Given the description of an element on the screen output the (x, y) to click on. 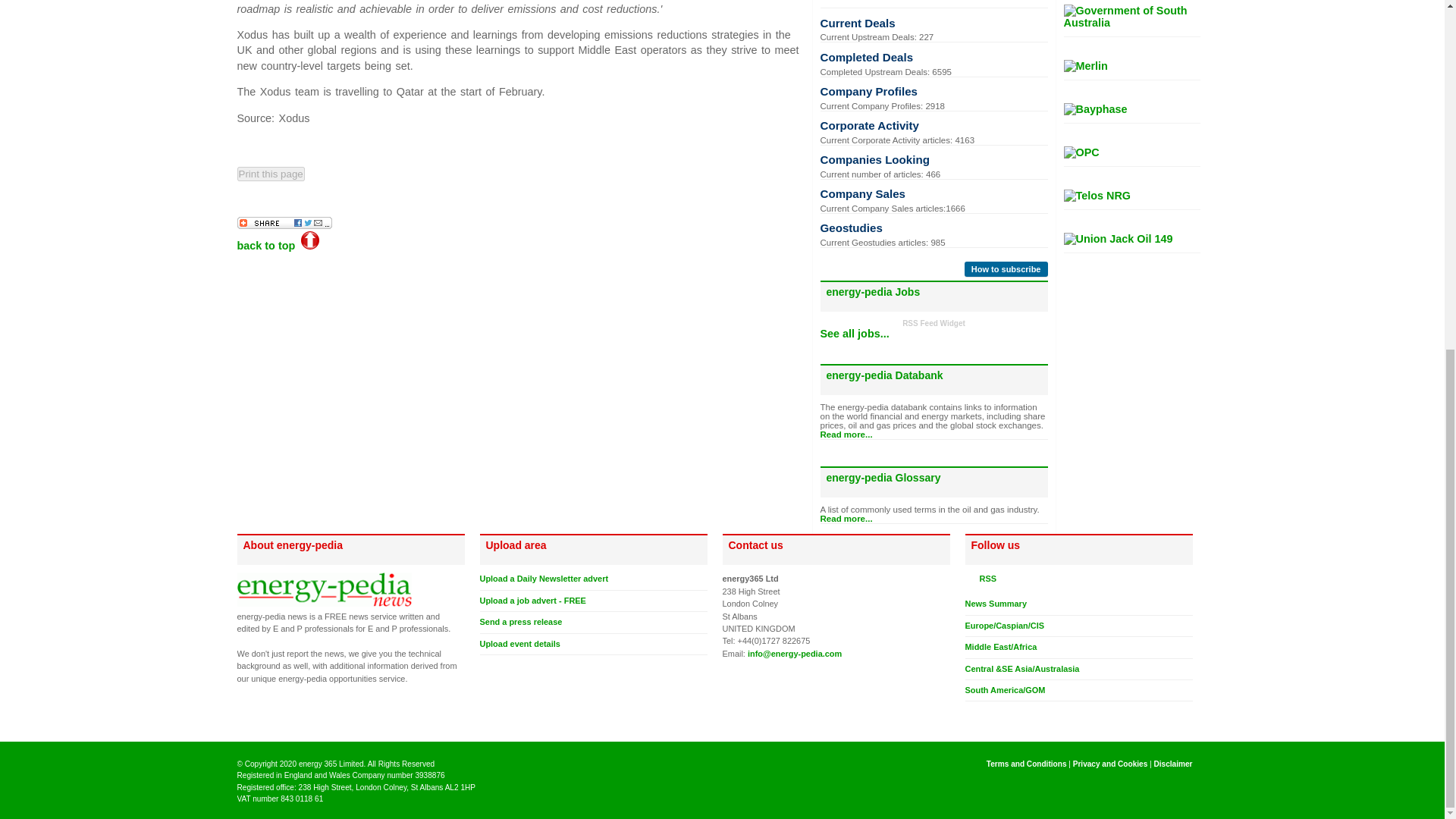
Twitter (969, 713)
Read more... (846, 433)
RSS Feed Widget (933, 323)
Facebook (985, 713)
See all jobs... (855, 333)
back to top   (276, 245)
Print this page (269, 173)
Read more... (846, 518)
RSS (969, 578)
How to subscribe (1005, 268)
